Given the description of an element on the screen output the (x, y) to click on. 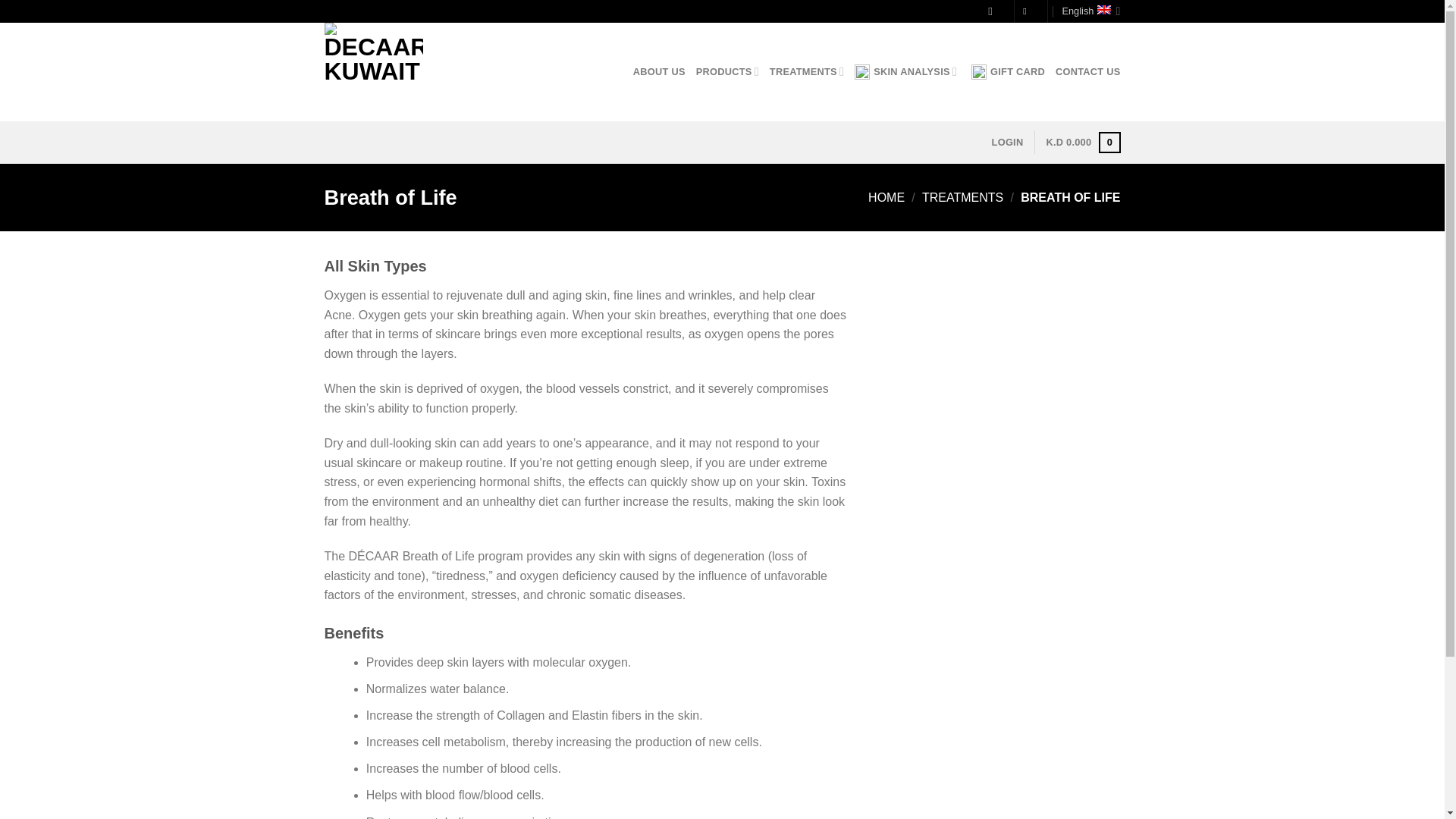
English (1090, 11)
Cart (1082, 142)
DECAAR KUWAIT - Professional Skincare (400, 71)
Login (1007, 142)
PRODUCTS (726, 71)
ABOUT US (659, 71)
